Given the description of an element on the screen output the (x, y) to click on. 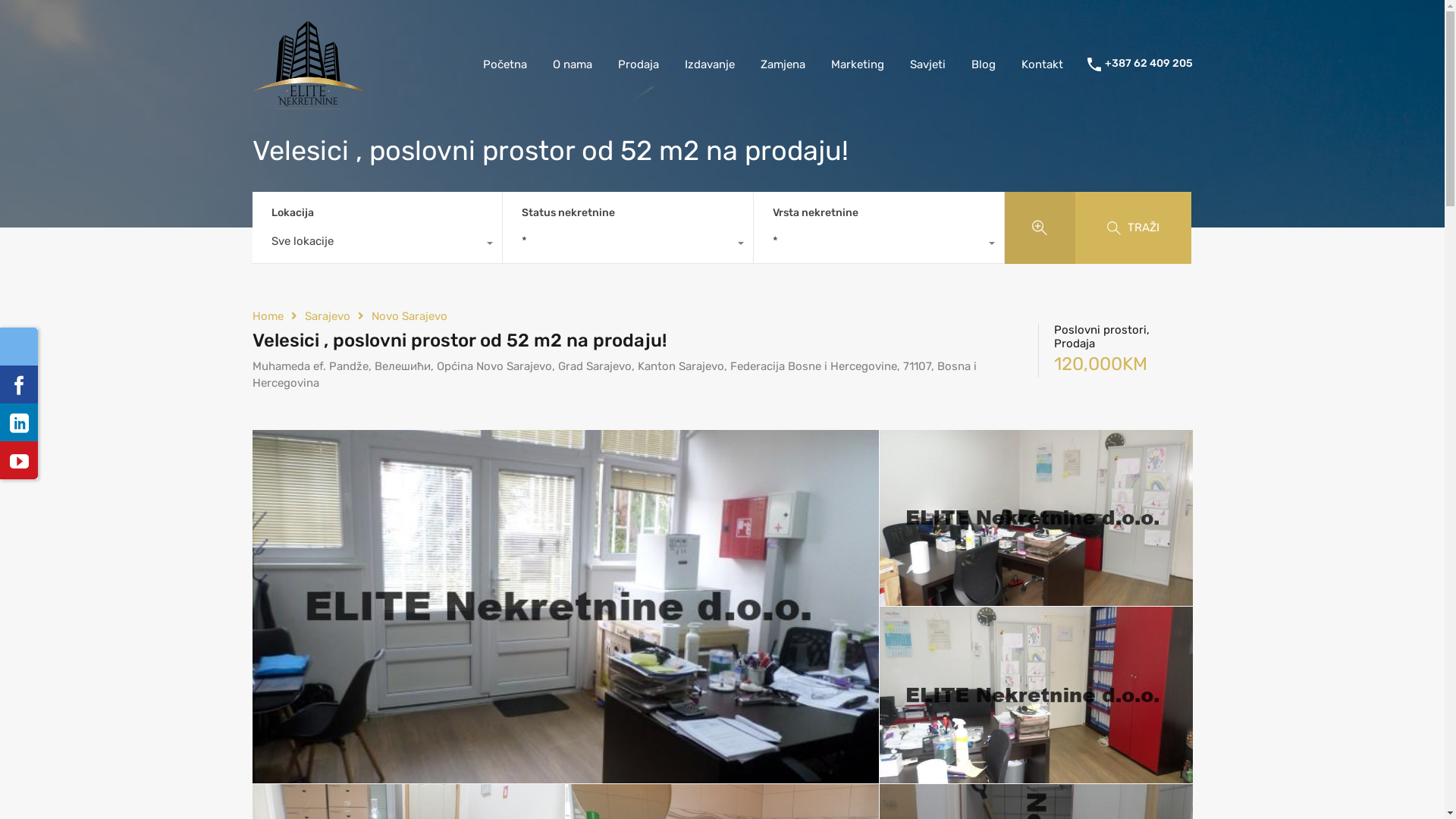
Prodaja Element type: text (638, 64)
* Element type: text (878, 244)
Home Element type: text (266, 316)
Savjeti Element type: text (926, 64)
Sarajevo Element type: text (327, 316)
ELITE Nekretnine d.o.o. Element type: hover (308, 102)
Zamjena Element type: text (782, 64)
Sve lokacije Element type: text (376, 244)
Kontakt Element type: text (1042, 64)
+387 62 409 205 Element type: text (1148, 63)
Marketing Element type: text (856, 64)
Izdavanje Element type: text (709, 64)
* Element type: text (627, 244)
Blog Element type: text (983, 64)
Novo Sarajevo Element type: text (409, 316)
O nama Element type: text (572, 64)
